Given the description of an element on the screen output the (x, y) to click on. 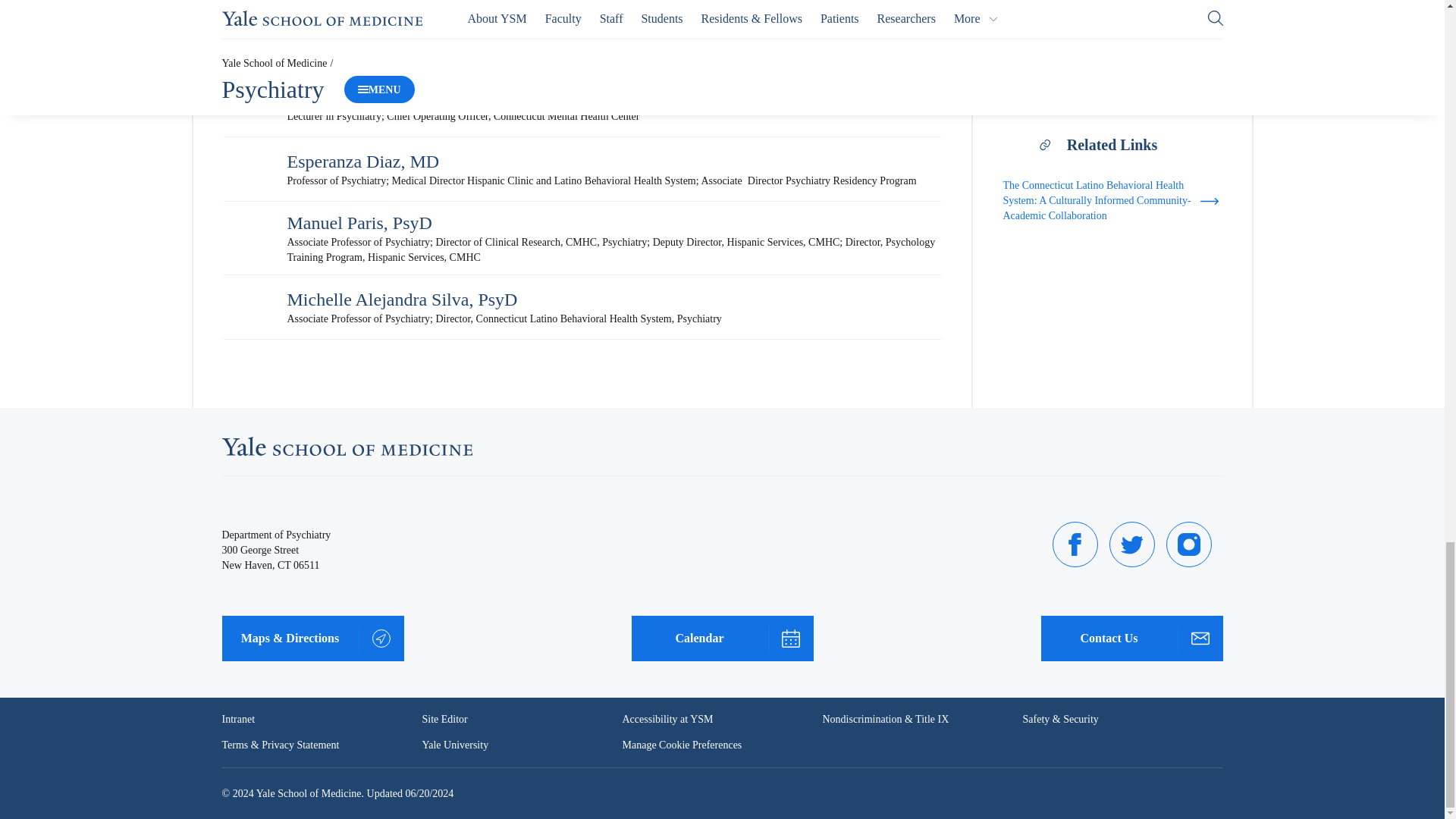
Yale School of Medicine (346, 445)
